Given the description of an element on the screen output the (x, y) to click on. 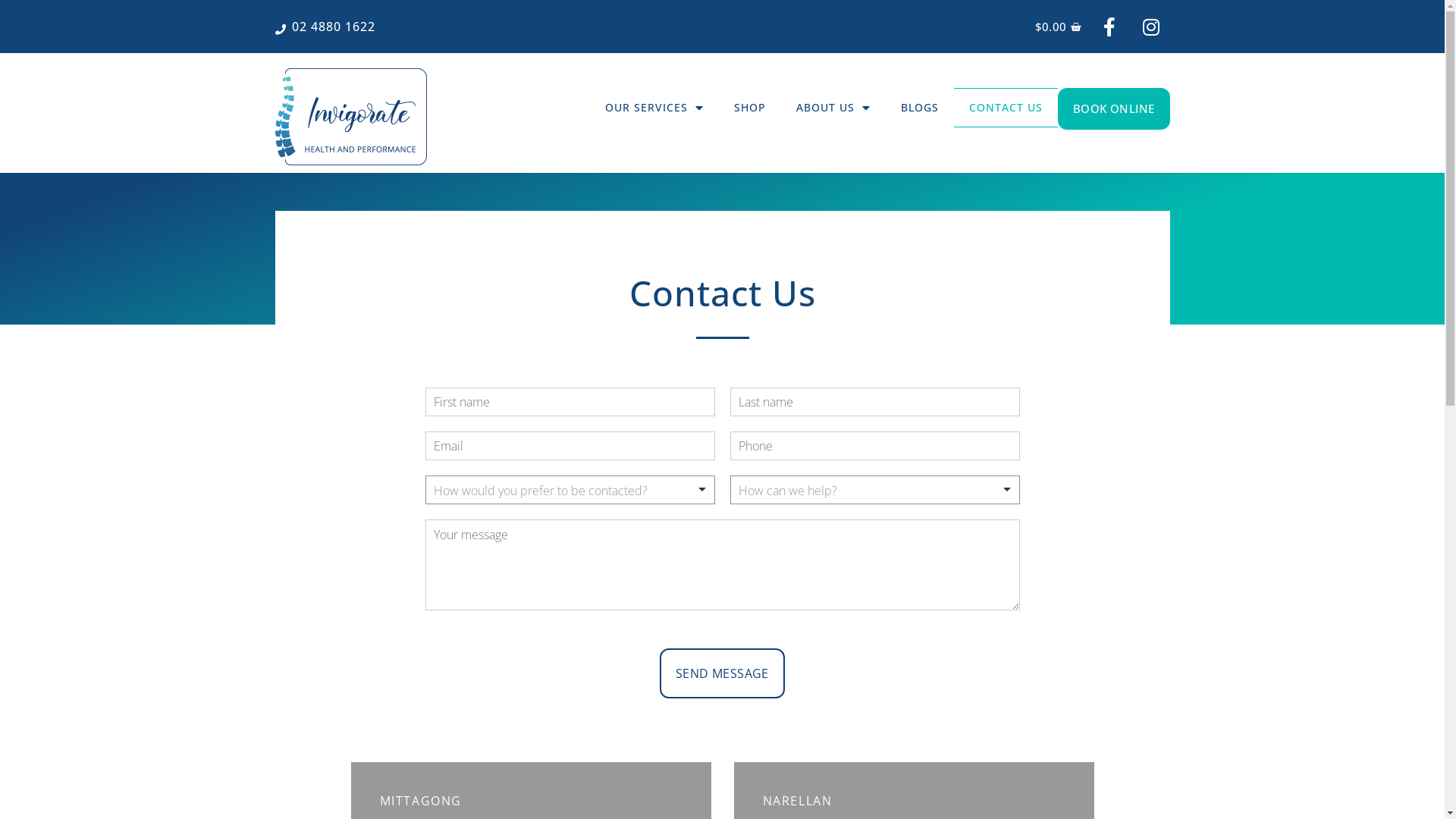
ABOUT US Element type: text (833, 106)
CONTACT US Element type: text (1005, 106)
02 4880 1622 Element type: text (324, 26)
OUR SERVICES Element type: text (653, 106)
BLOGS Element type: text (919, 106)
$0.00 Element type: text (1058, 20)
SHOP Element type: text (749, 106)
BOOK ONLINE Element type: text (1113, 108)
SEND MESSAGE Element type: text (721, 672)
